Given the description of an element on the screen output the (x, y) to click on. 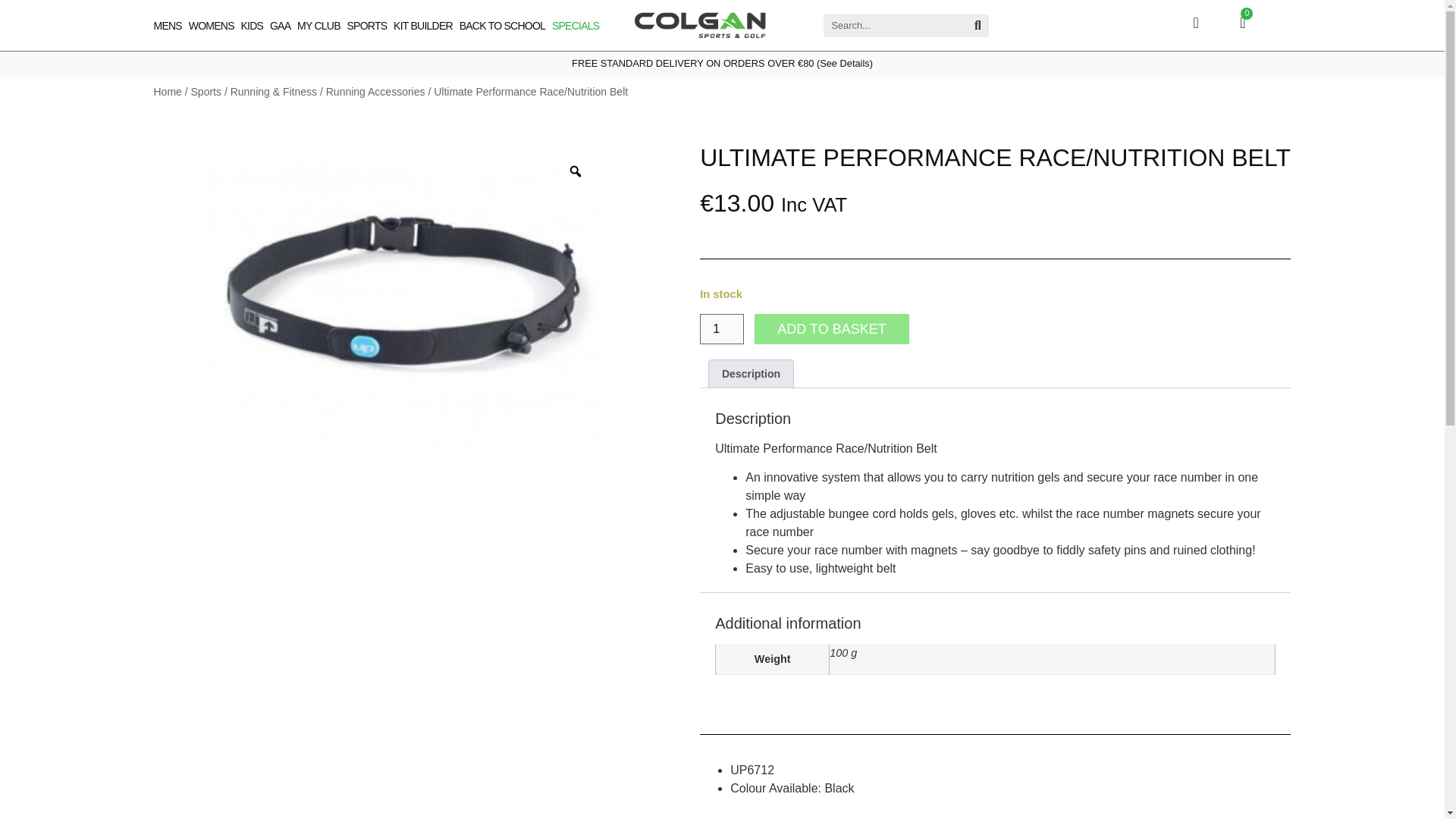
WOMENS (211, 25)
UltimatePerformanceNutritionBelt (403, 299)
MENS (166, 25)
1 (722, 328)
